Given the description of an element on the screen output the (x, y) to click on. 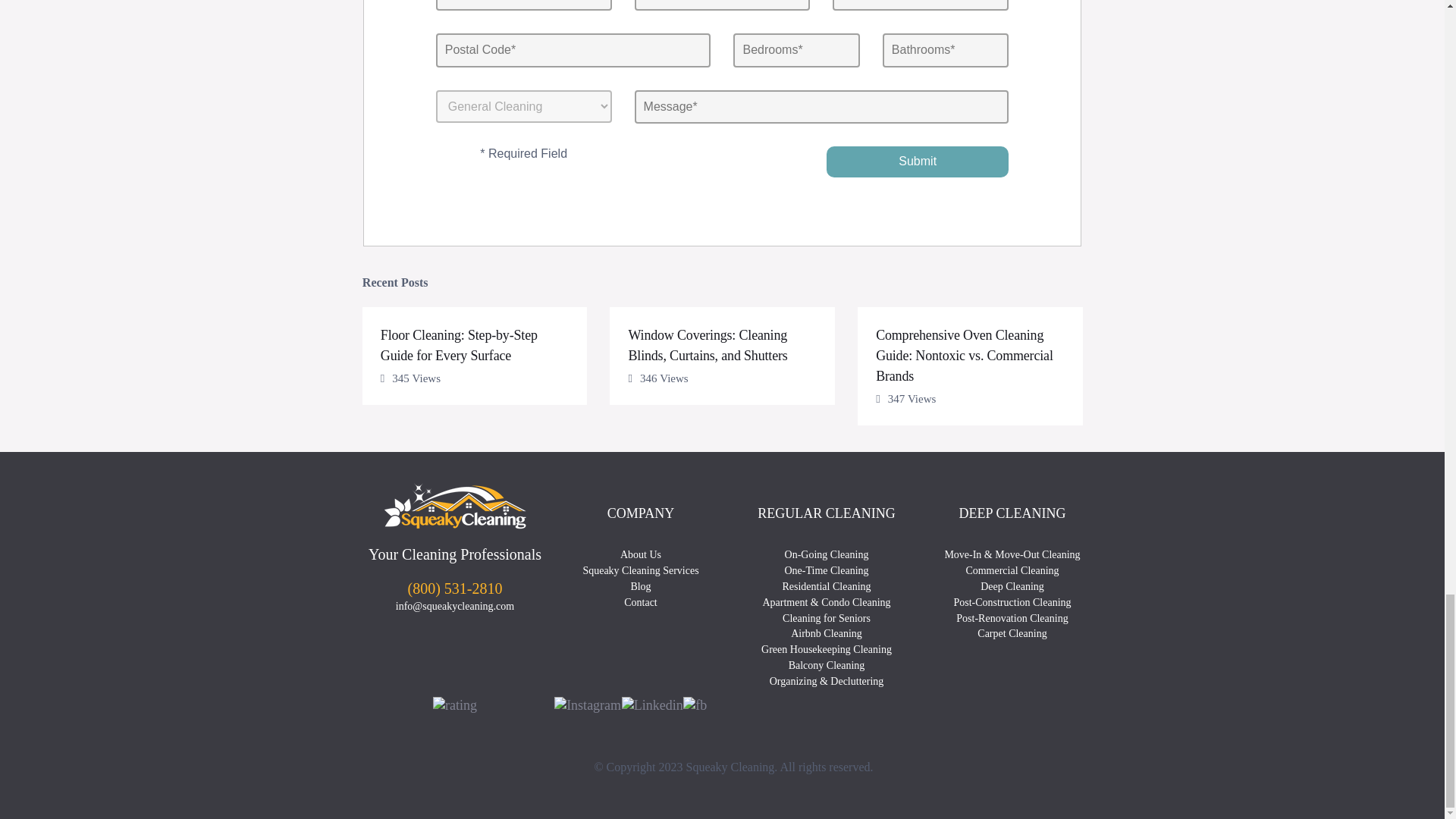
Stars (454, 705)
Squeaky Cleaning (454, 504)
Submit (918, 161)
fb (694, 705)
Instagram (587, 705)
twitter (716, 706)
Linkined (651, 705)
